Given the description of an element on the screen output the (x, y) to click on. 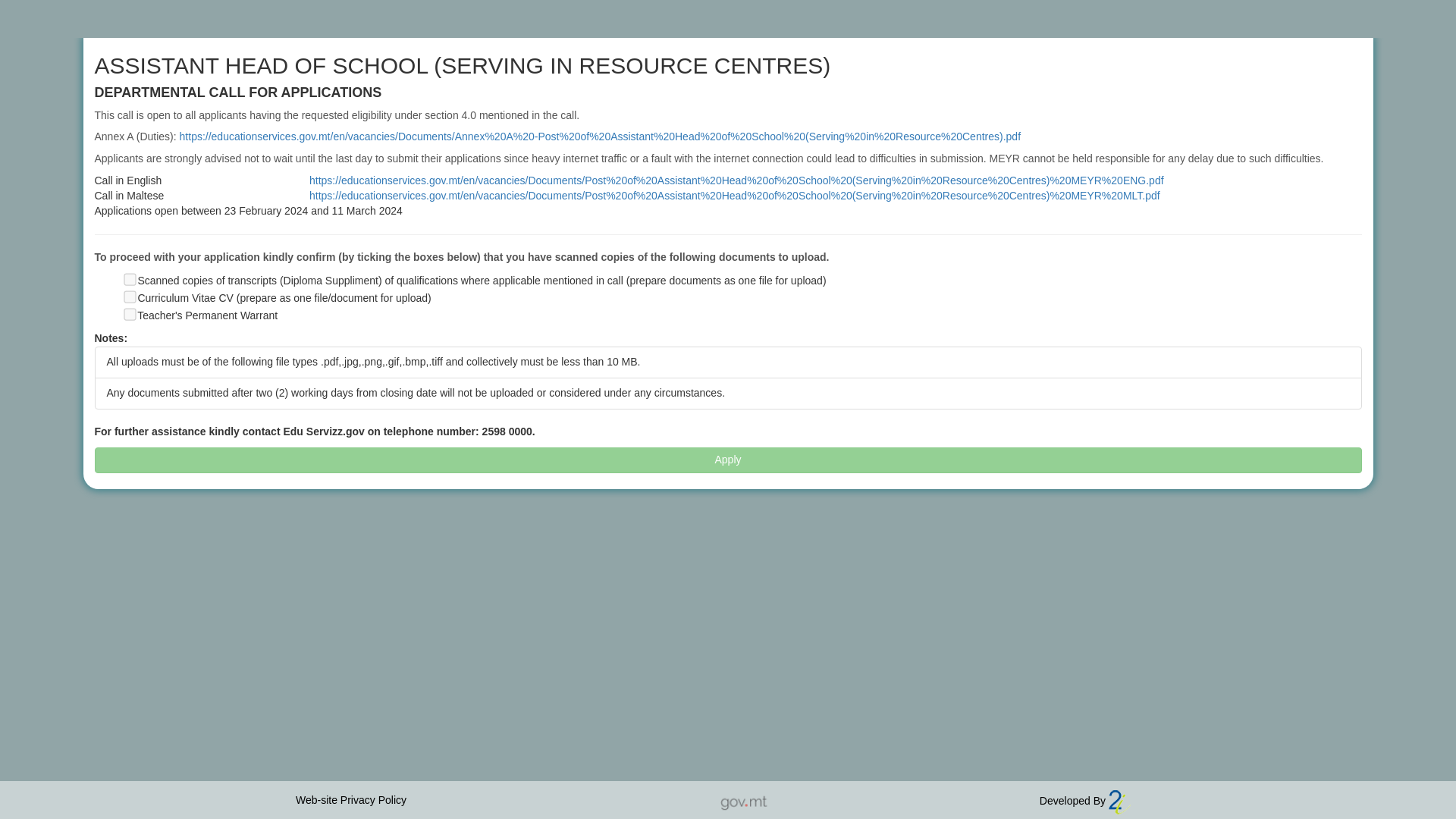
Apply (727, 460)
on (128, 296)
Developed By (1085, 800)
on (128, 313)
on (128, 278)
